Given the description of an element on the screen output the (x, y) to click on. 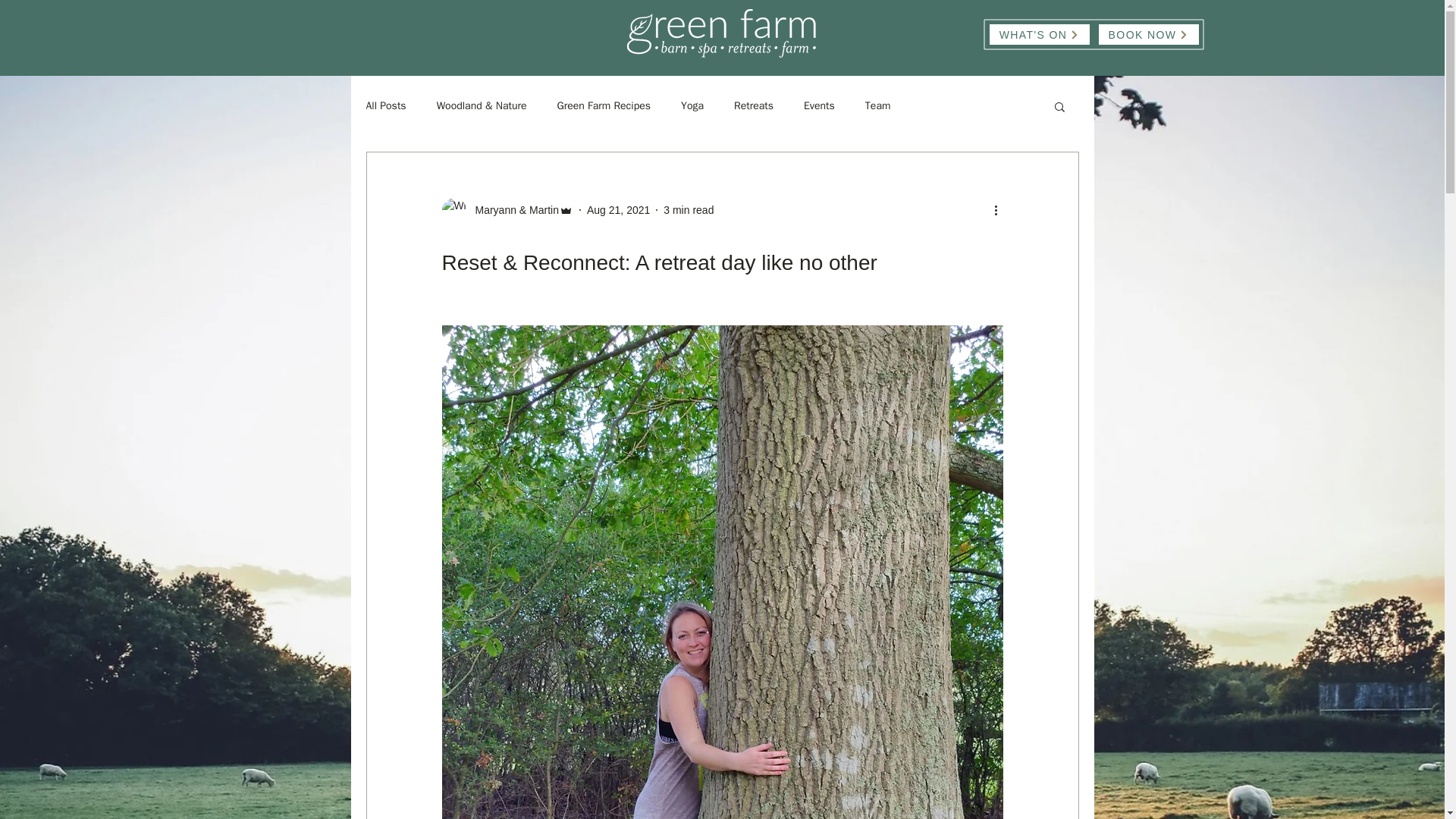
Events (818, 106)
Green Farm Recipes (603, 106)
BOOK NOW (1148, 34)
Aug 21, 2021 (617, 209)
All Posts (385, 106)
3 min read (688, 209)
WHAT'S ON (1039, 34)
GREEN FARM LOGO.png (721, 34)
Yoga (692, 106)
Team (877, 106)
Retreats (753, 106)
